Given the description of an element on the screen output the (x, y) to click on. 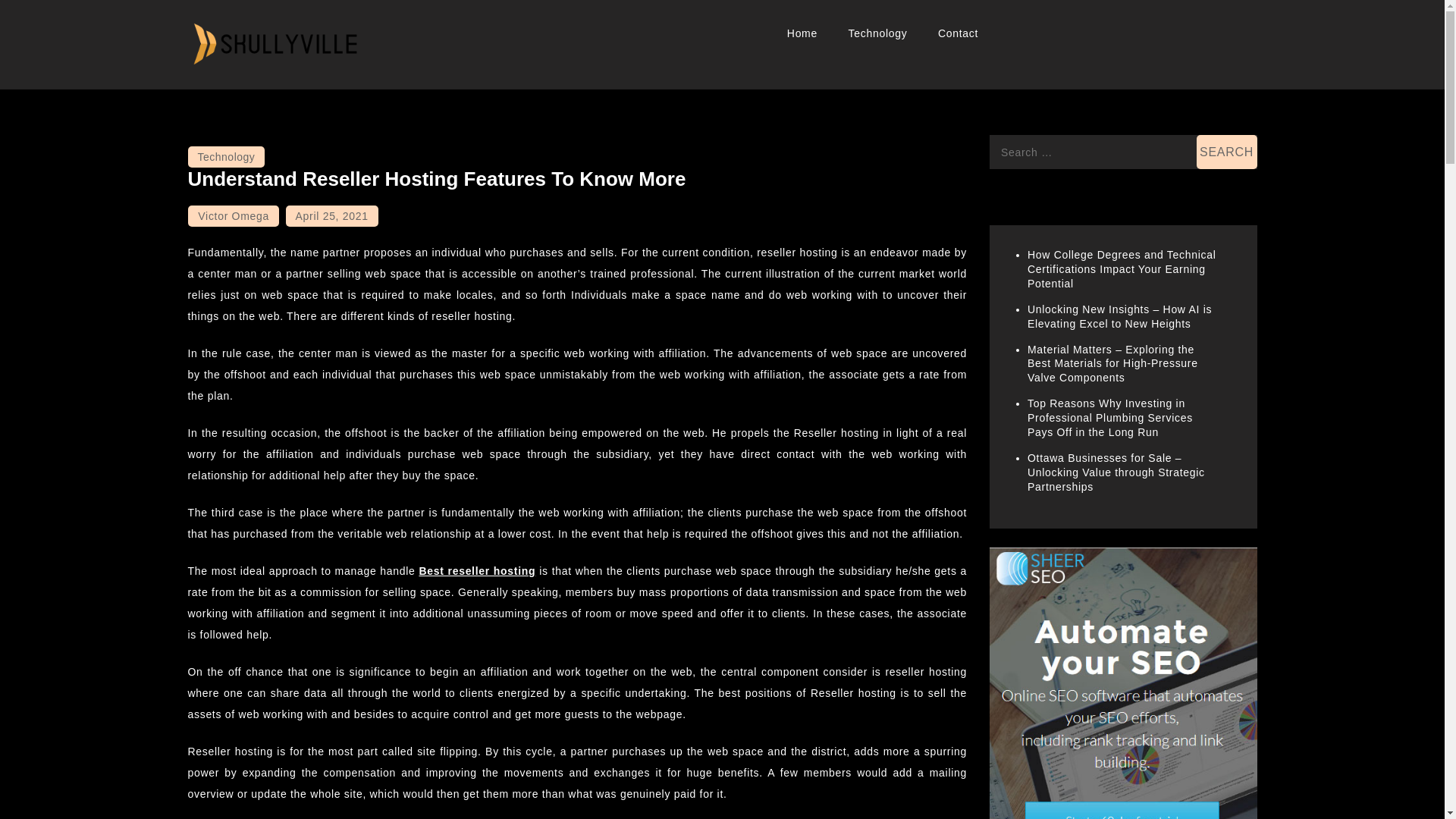
Home (802, 33)
Technology (877, 33)
Best reseller hosting (477, 571)
Technology (225, 156)
Contact (957, 33)
Search (1226, 151)
Positive fitness (272, 91)
Victor Omega (233, 215)
